Given the description of an element on the screen output the (x, y) to click on. 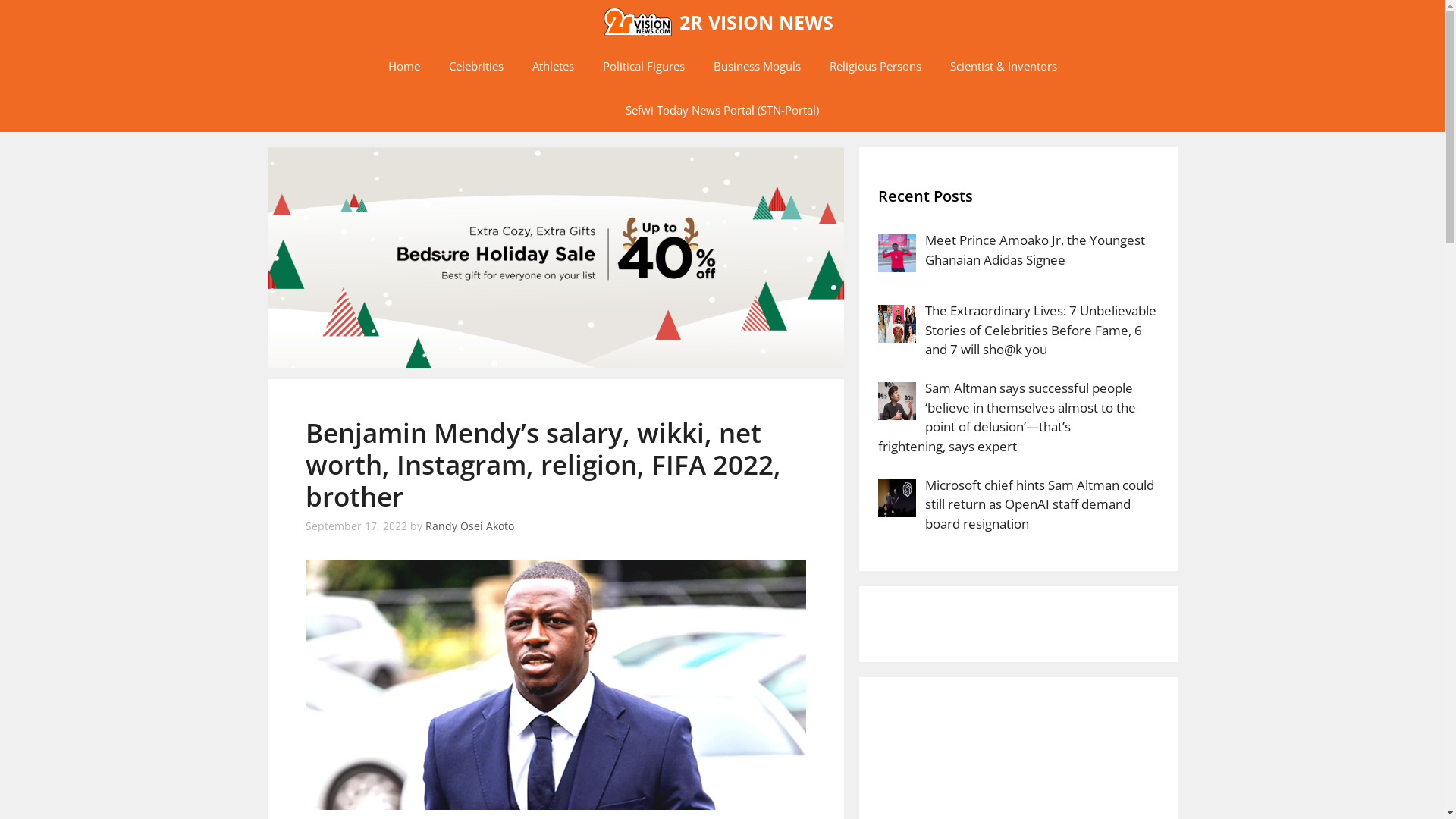
Religious Persons Element type: text (874, 65)
Celebrities Element type: text (475, 65)
Business Moguls Element type: text (757, 65)
Scientist & Inventors Element type: text (1003, 65)
Home Element type: text (403, 65)
Athletes Element type: text (552, 65)
Meet Prince Amoako Jr, the Youngest Ghanaian Adidas Signee Element type: hover (897, 253)
2R VISION NEWS Element type: text (756, 21)
2R VISION NEWS Element type: hover (637, 21)
Political Figures Element type: text (643, 65)
Meet Prince Amoako Jr, the Youngest Ghanaian Adidas Signee Element type: text (1035, 249)
Sefwi Today News Portal (STN-Portal) Element type: text (722, 109)
Randy Osei Akoto Element type: text (468, 525)
